Given the description of an element on the screen output the (x, y) to click on. 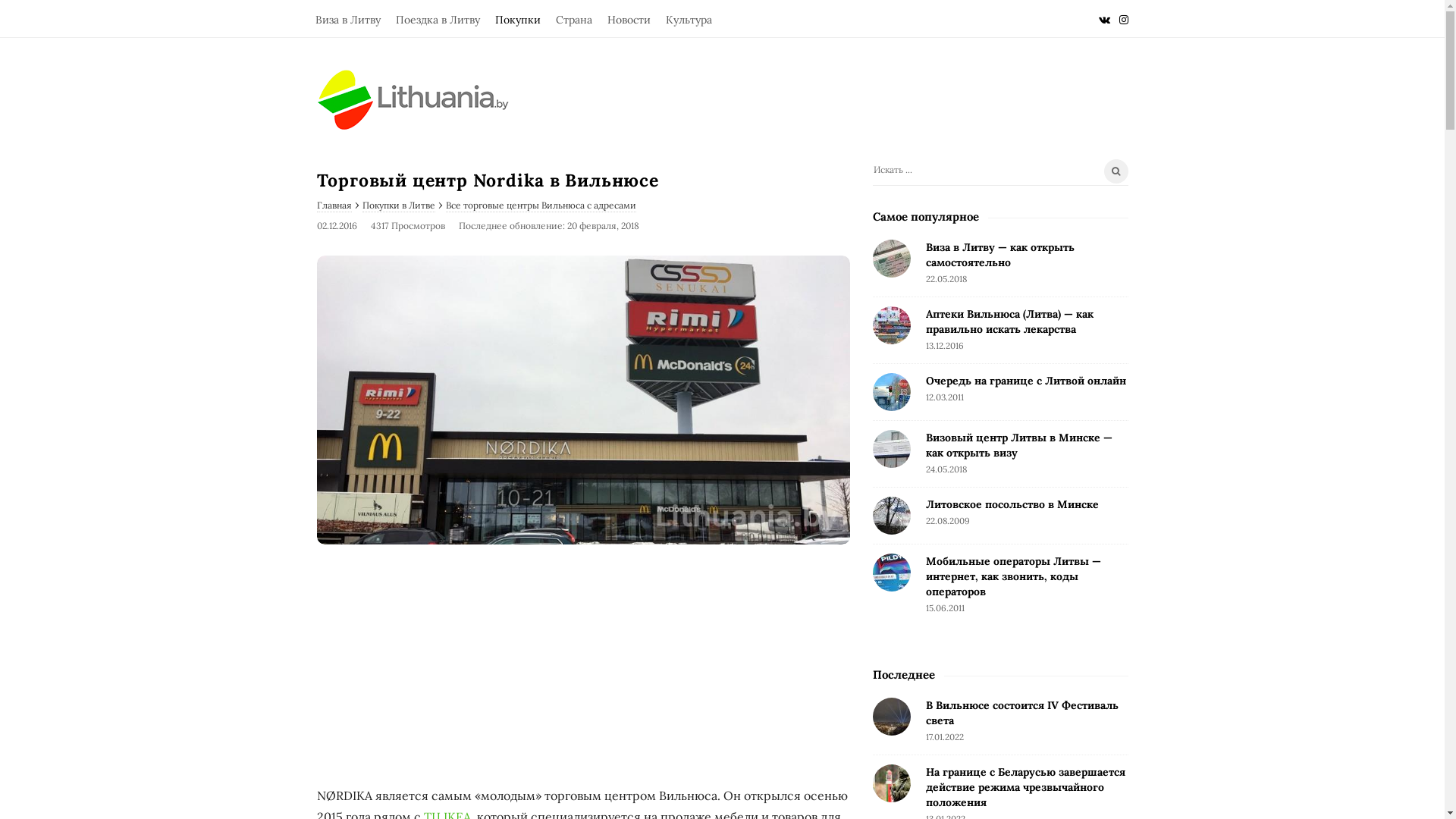
Advertisement Element type: hover (583, 666)
VK Element type: hover (1103, 18)
Instagram Element type: hover (1123, 18)
